Given the description of an element on the screen output the (x, y) to click on. 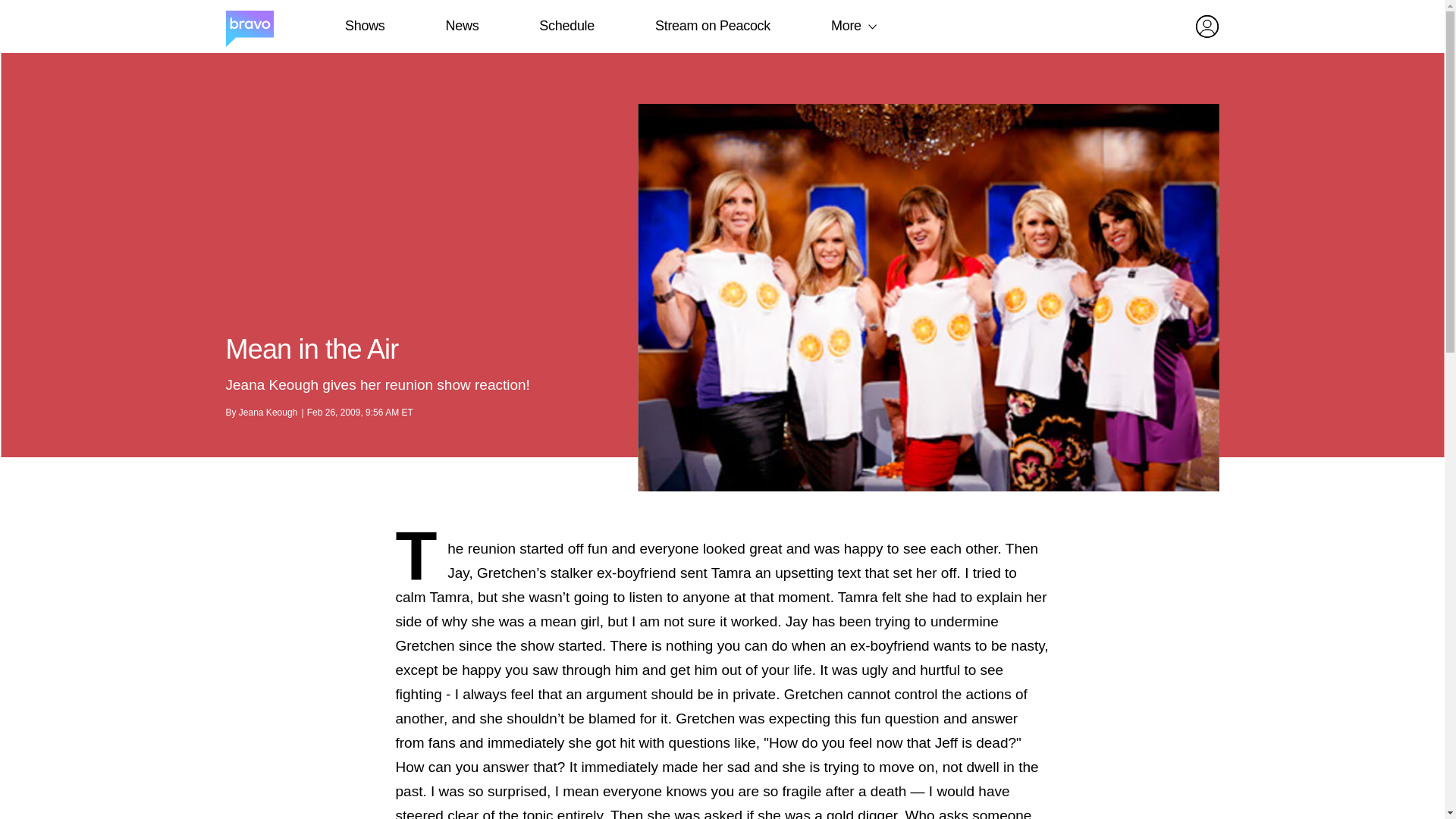
Shows (363, 26)
News (462, 26)
Schedule (566, 26)
Jeana Keough (267, 412)
More (846, 26)
Home (249, 26)
Stream on Peacock (712, 26)
